Given the description of an element on the screen output the (x, y) to click on. 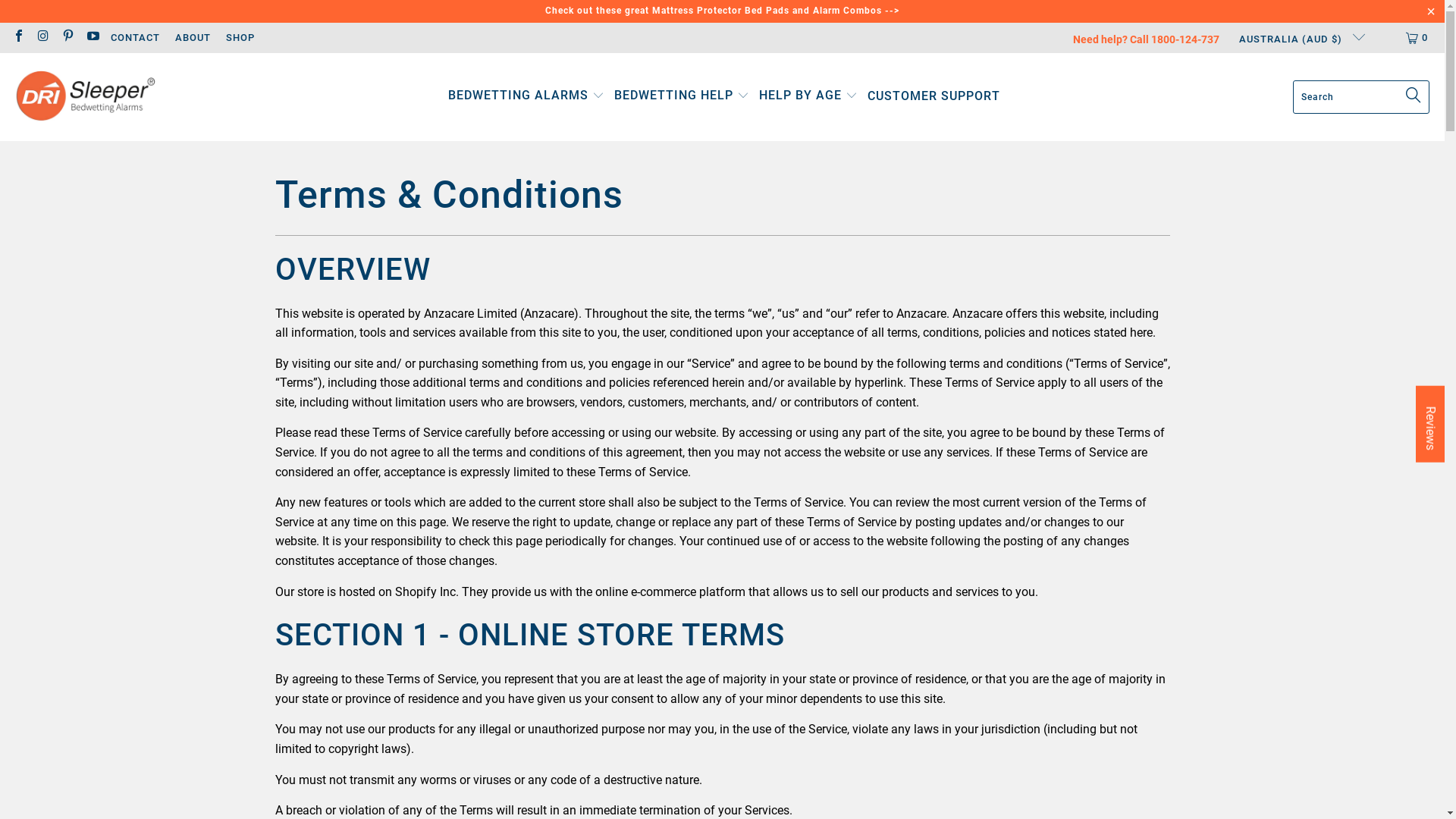
AUSTRALIA (AUD $) Element type: text (1295, 37)
SHOP Element type: text (239, 37)
DRI Sleeper Bedwetting Alarms on YouTube Element type: hover (91, 37)
CONTACT Element type: text (135, 37)
DRI Sleeper Bedwetting Alarms on Instagram Element type: hover (42, 37)
DRI Sleeper Bedwetting Alarms Element type: hover (85, 96)
Need help? Call 1800-124-737 Element type: text (1146, 40)
DRI Sleeper Bedwetting Alarms on Pinterest Element type: hover (67, 37)
DRI Sleeper Bedwetting Alarms on Facebook Element type: hover (18, 37)
0 Element type: text (1417, 37)
ABOUT Element type: text (192, 37)
CUSTOMER SUPPORT Element type: text (933, 96)
